Given the description of an element on the screen output the (x, y) to click on. 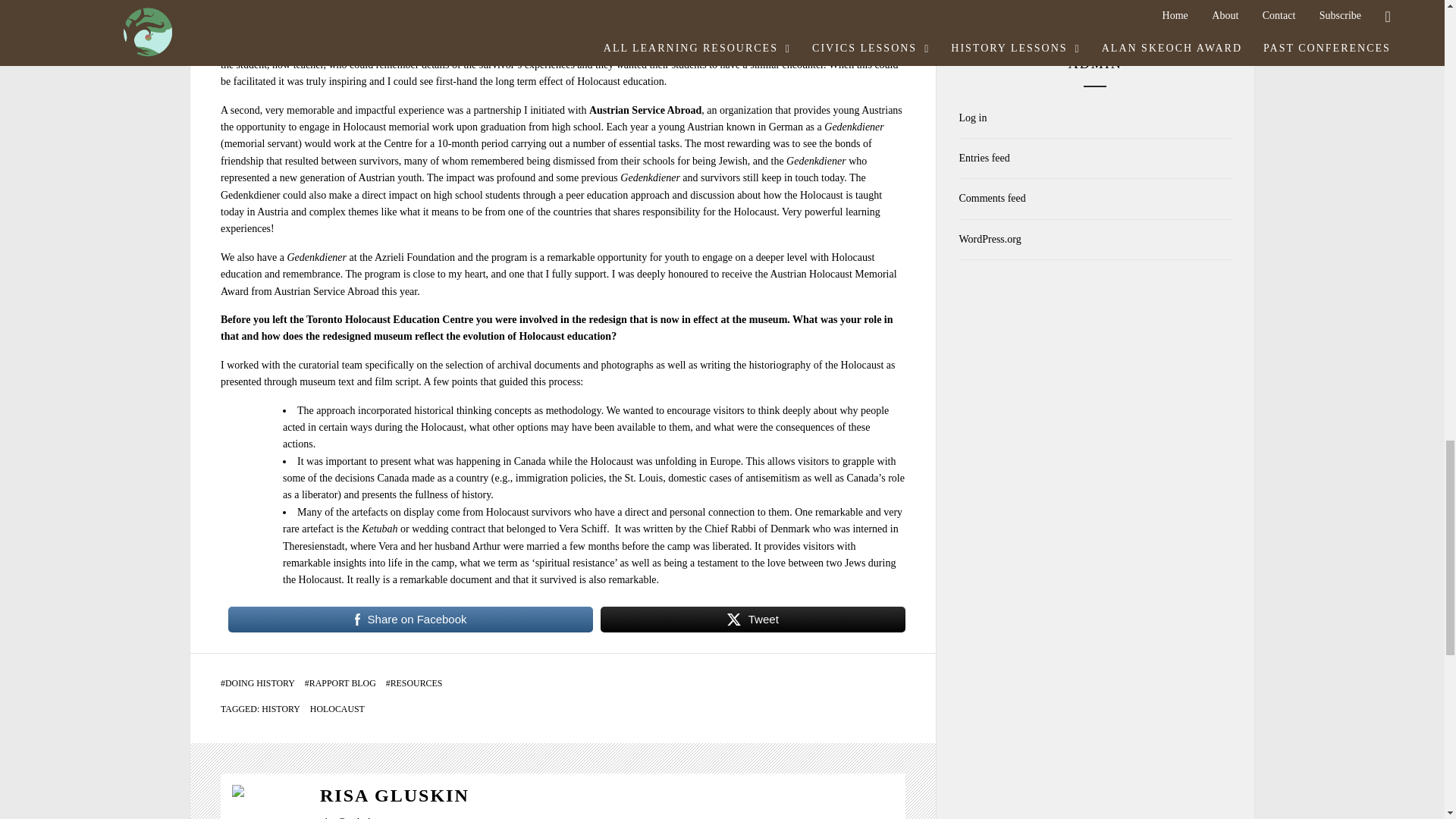
Share on Facebook (410, 619)
Austrian Service Abroad (645, 110)
Toronto Holocaust Museum (590, 13)
